Given the description of an element on the screen output the (x, y) to click on. 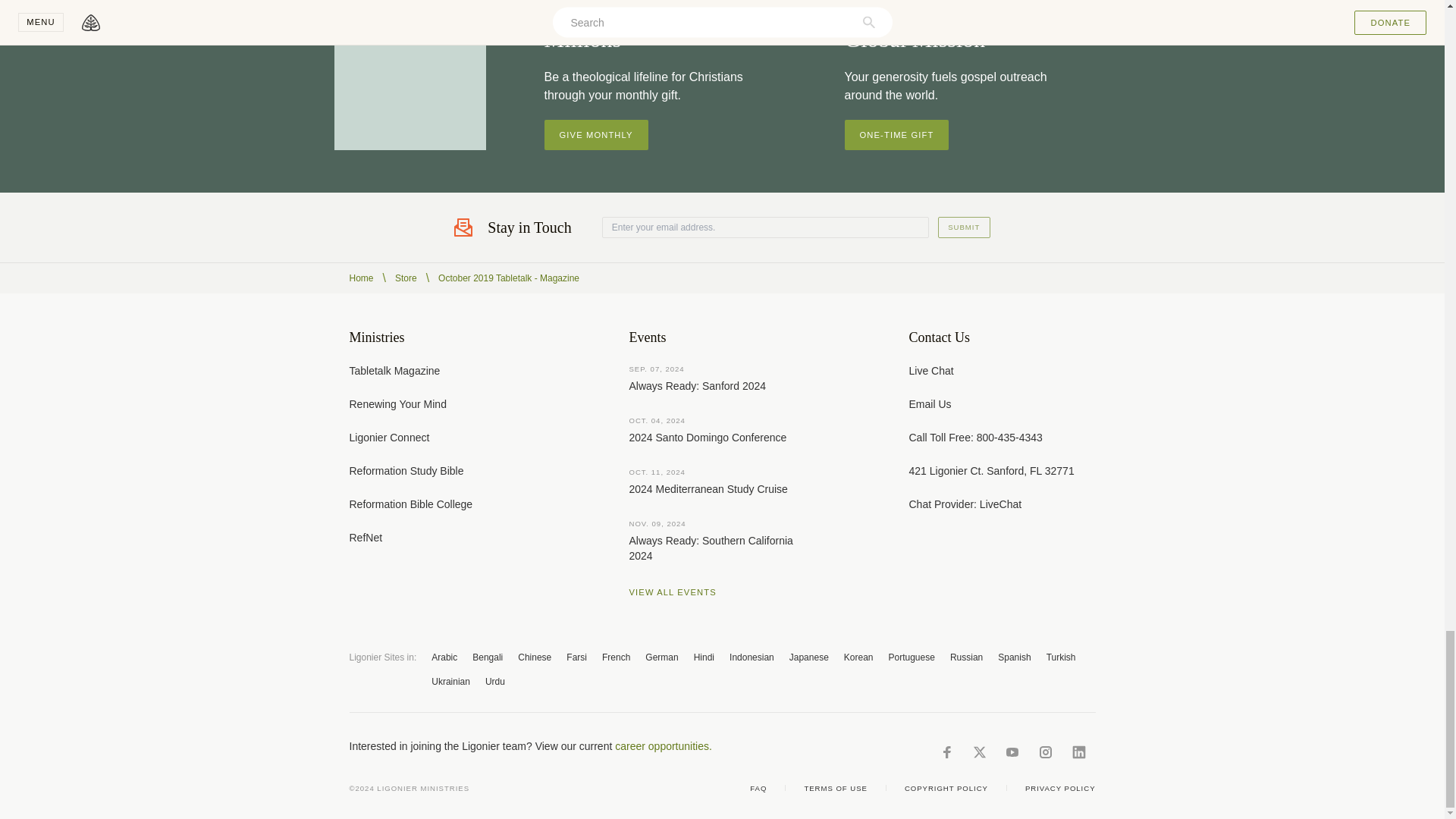
X (978, 752)
Give Monthly (595, 134)
Facebook (946, 752)
YouTube (1011, 752)
Instagram (1044, 752)
linkedin (1078, 752)
One-Time Gift (896, 134)
